Given the description of an element on the screen output the (x, y) to click on. 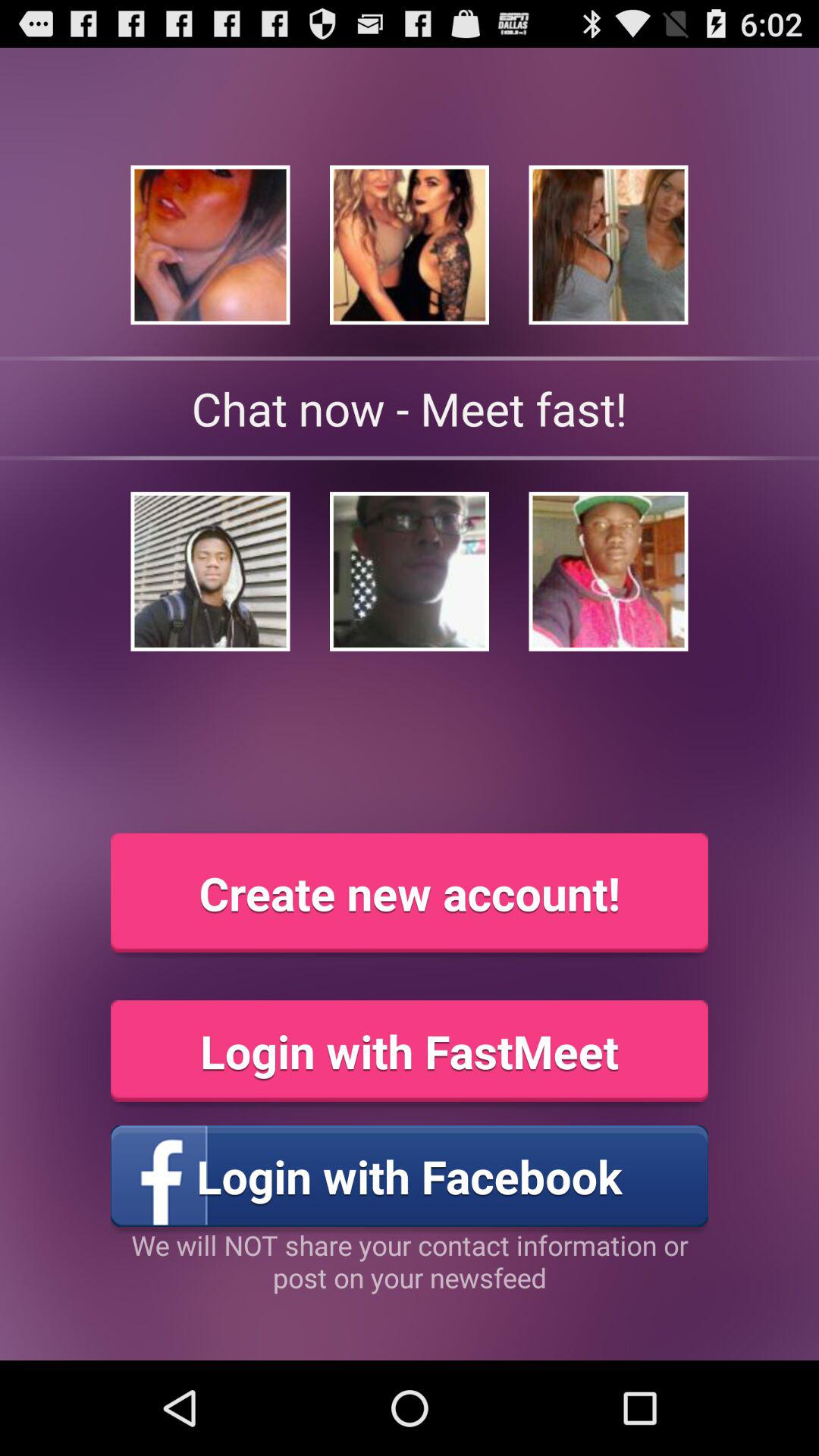
scroll to create new account! icon (409, 892)
